Given the description of an element on the screen output the (x, y) to click on. 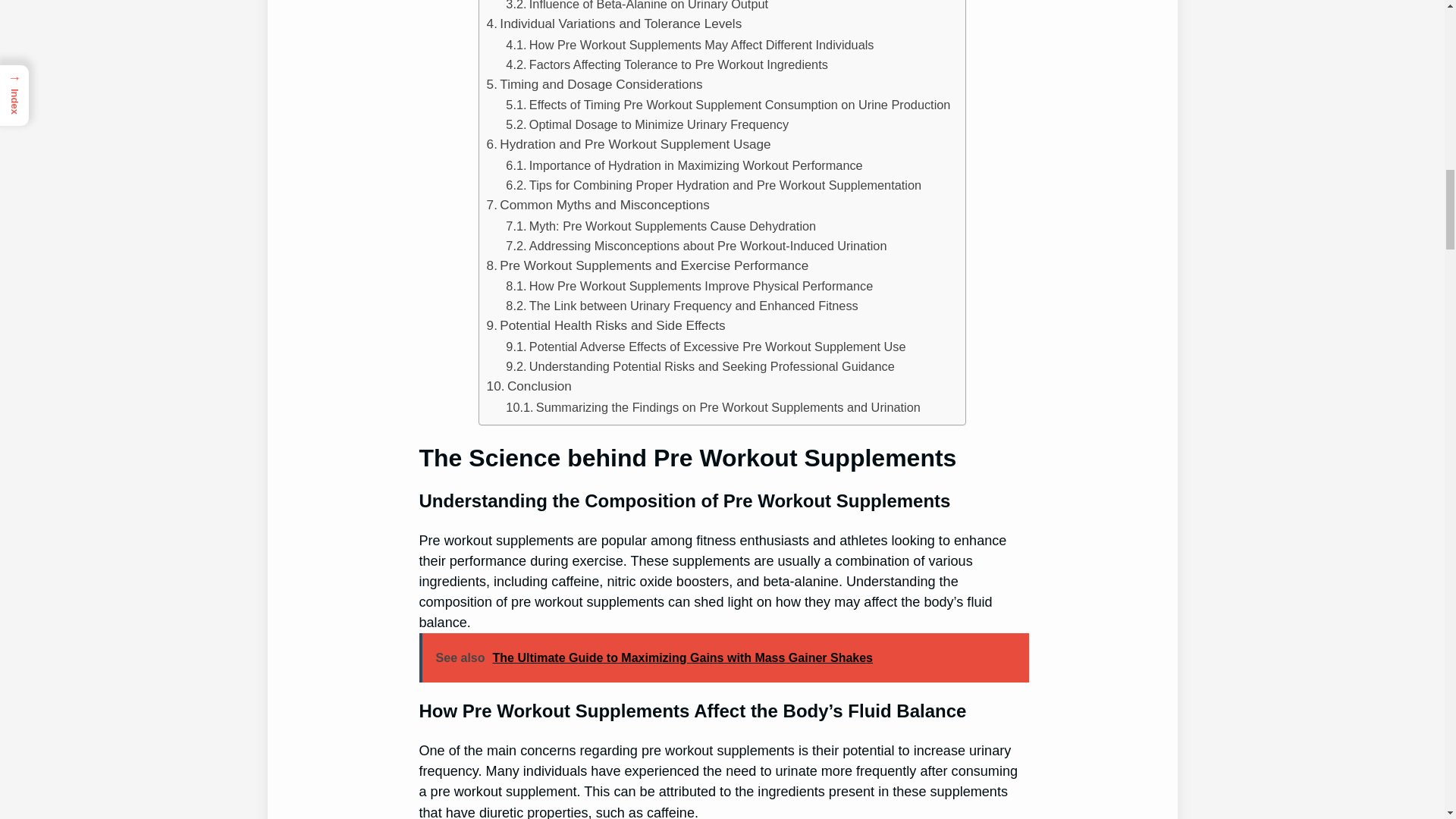
The Link between Urinary Frequency and Enhanced Fitness (681, 305)
Conclusion (529, 385)
Factors Affecting Tolerance to Pre Workout Ingredients (666, 64)
Pre Workout Supplements and Exercise Performance (647, 265)
Common Myths and Misconceptions (598, 204)
Individual Variations and Tolerance Levels (614, 23)
Optimal Dosage to Minimize Urinary Frequency (647, 124)
Timing and Dosage Considerations (594, 84)
